Given the description of an element on the screen output the (x, y) to click on. 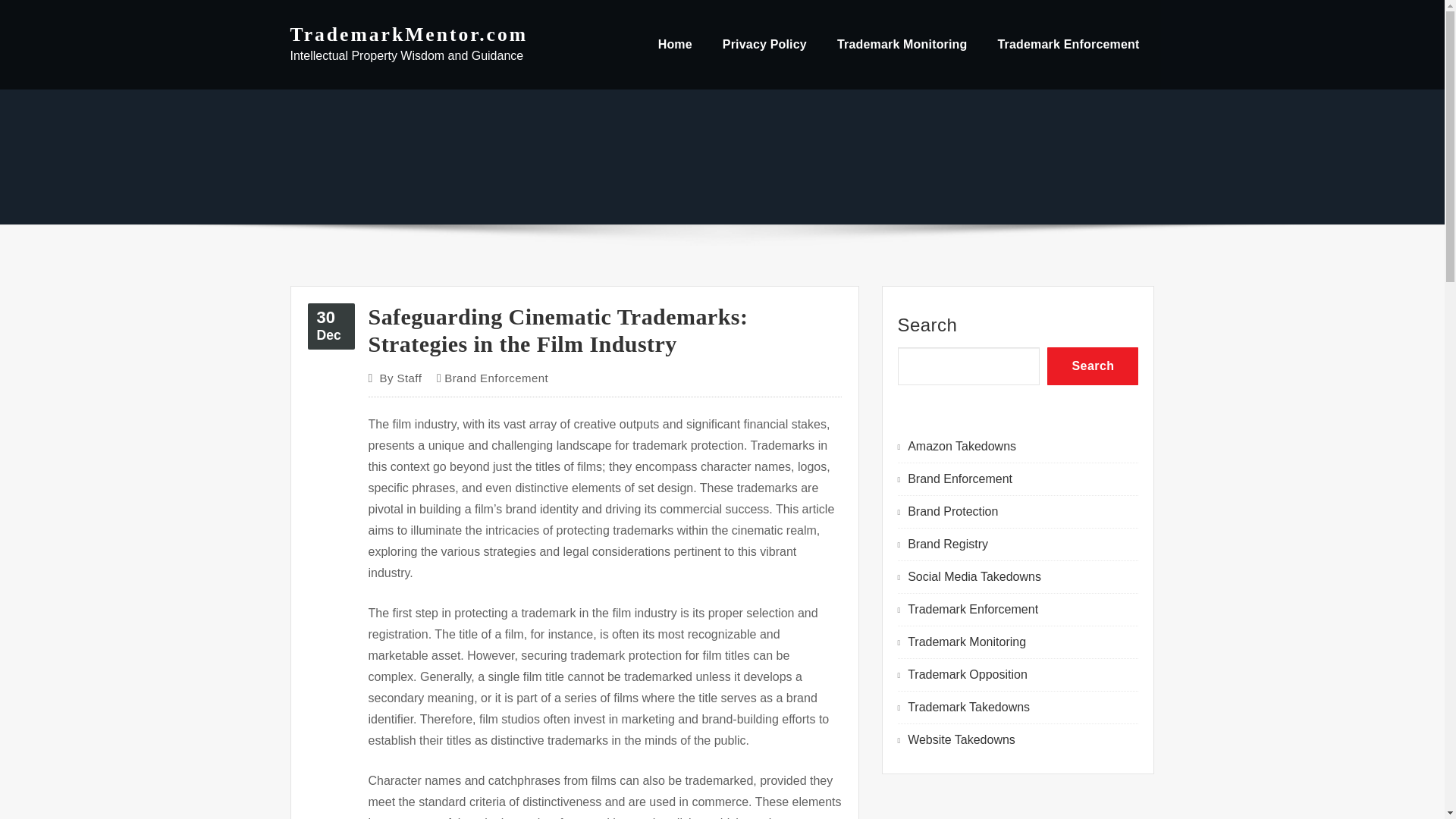
Amazon Takedowns (961, 445)
Trademark Enforcement (1068, 44)
Search (1092, 365)
By Staff (400, 378)
Social Media Takedowns (974, 576)
Trademark Enforcement (972, 608)
Brand Enforcement (496, 378)
Trademark Takedowns (968, 707)
TrademarkMentor.com (408, 34)
